Given the description of an element on the screen output the (x, y) to click on. 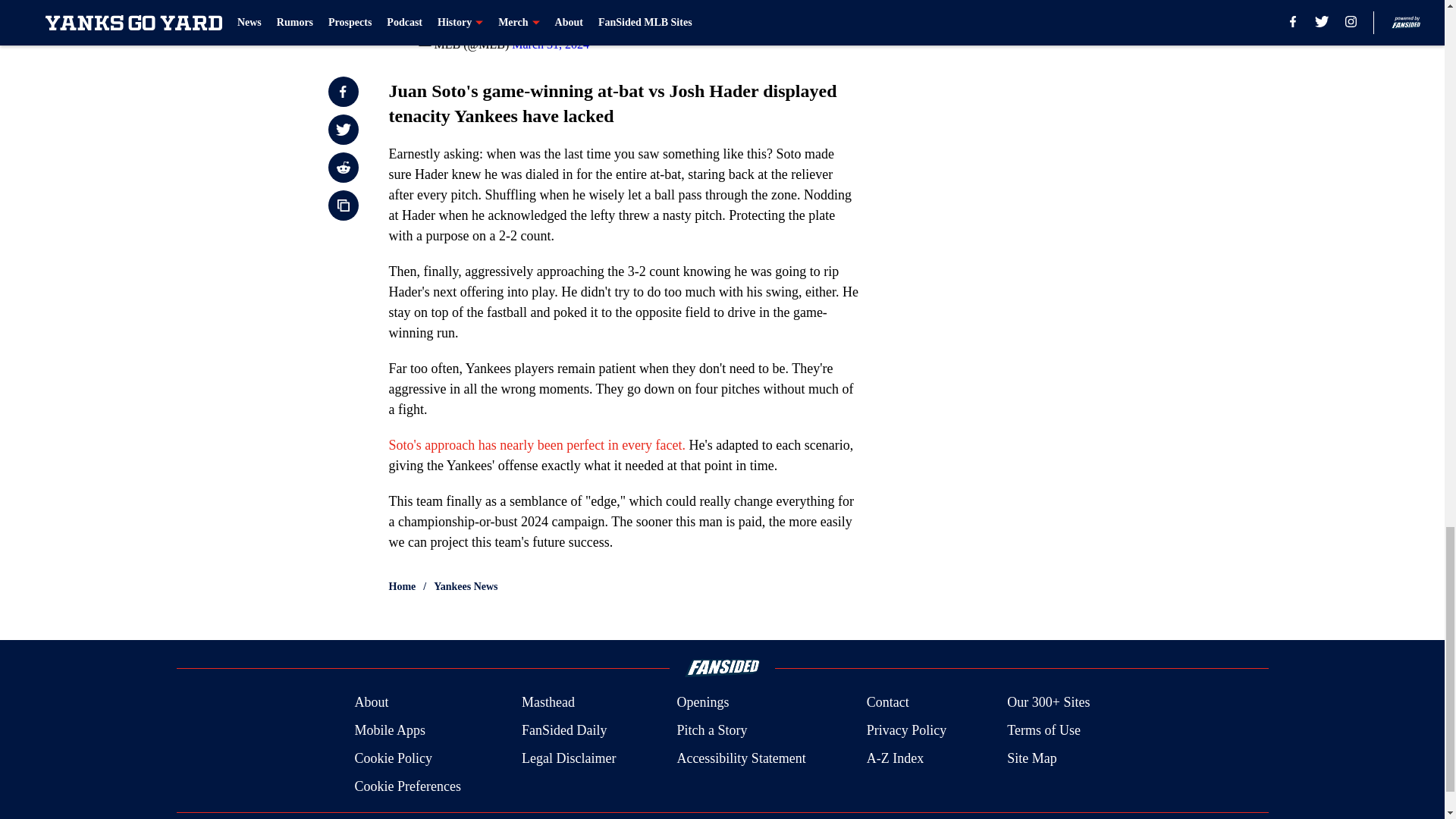
Mobile Apps (389, 730)
Terms of Use (1043, 730)
Openings (703, 702)
Masthead (548, 702)
March 31, 2024 (550, 43)
Home (401, 586)
Privacy Policy (906, 730)
Yankees News (465, 586)
Pitch a Story (711, 730)
Contact (887, 702)
Soto's approach has nearly been perfect in every facet. (536, 444)
FanSided Daily (564, 730)
About (370, 702)
